Given the description of an element on the screen output the (x, y) to click on. 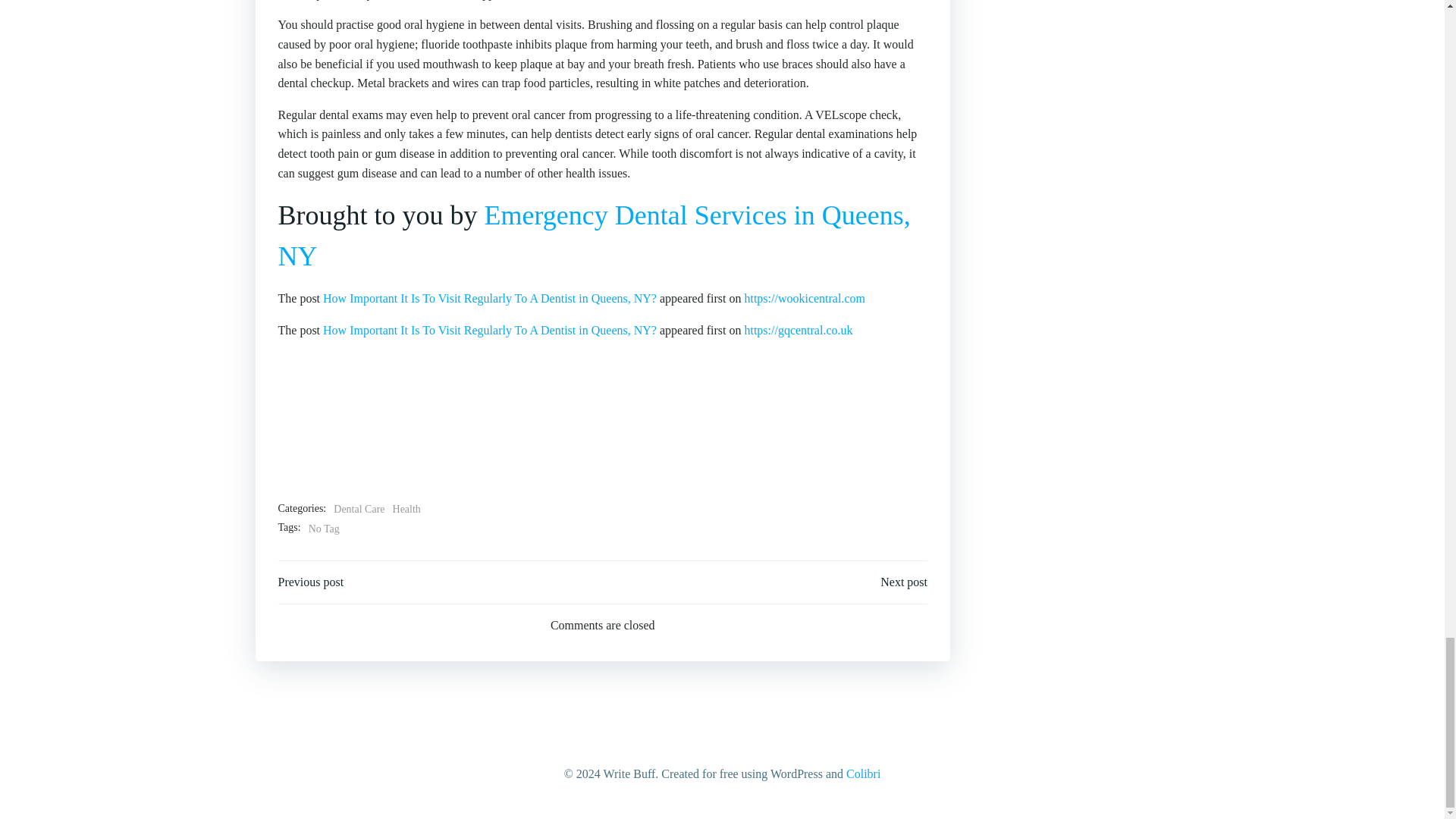
Previous post (310, 582)
Next post (903, 582)
Emergency Dental Services in Queens, NY (594, 235)
Health (406, 509)
Colibri (862, 773)
Dental Care (358, 509)
